Given the description of an element on the screen output the (x, y) to click on. 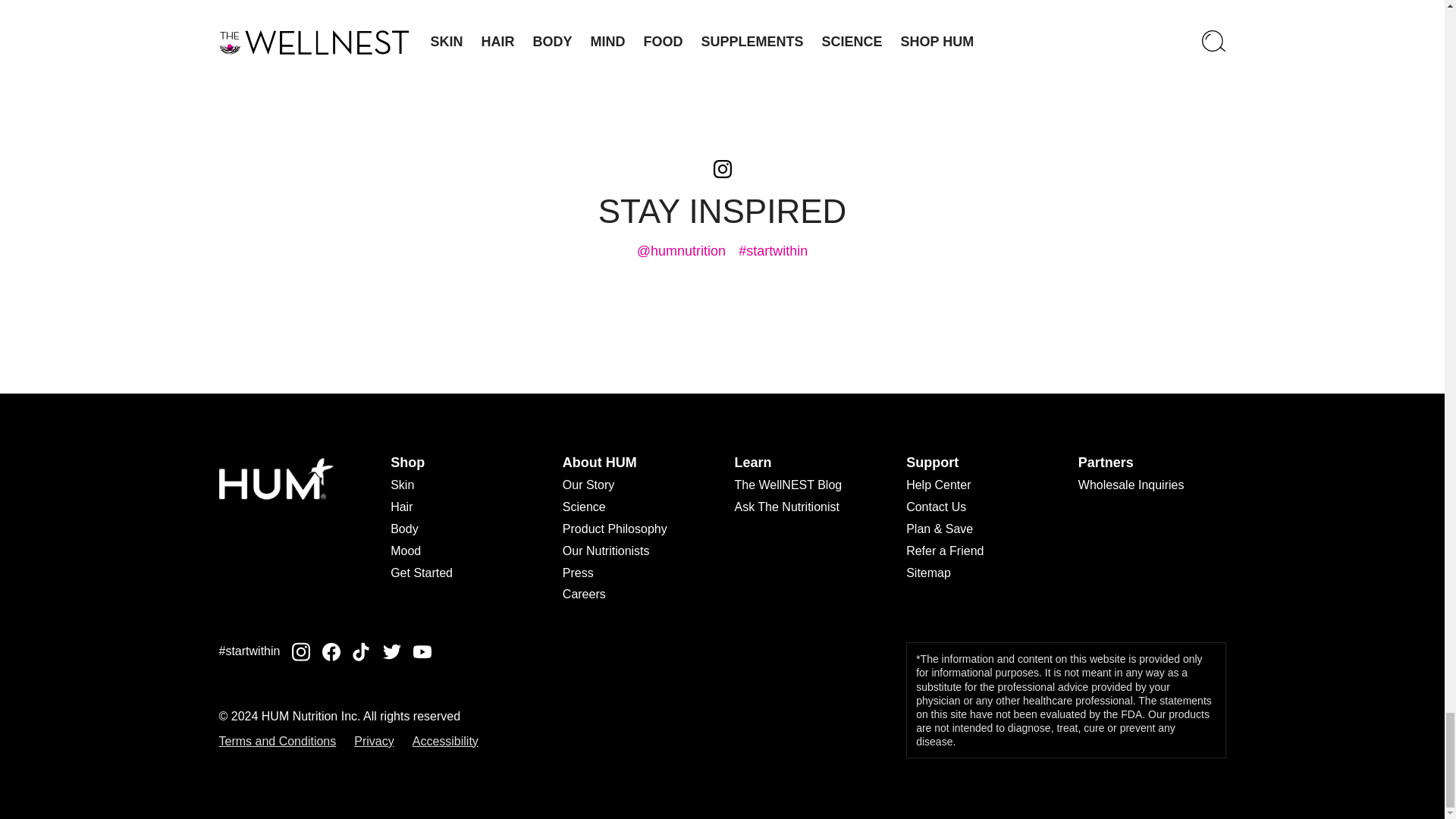
TikTok (361, 651)
Facebook (330, 651)
Twitter (391, 651)
YouTube (421, 652)
